Given the description of an element on the screen output the (x, y) to click on. 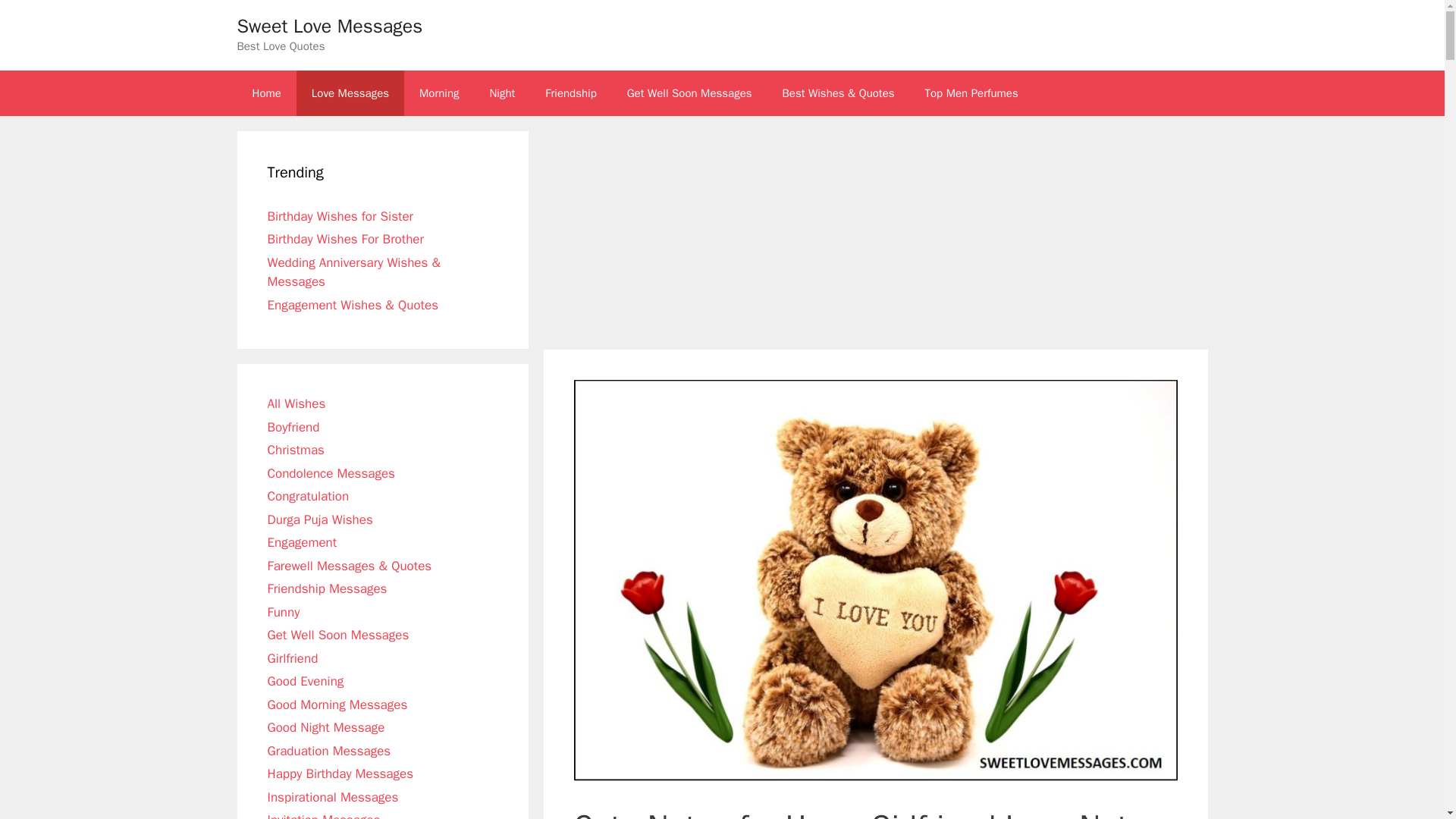
Night (501, 92)
Sweet Love Messages (328, 25)
Morning (439, 92)
Birthday Wishes for Sister (339, 215)
Friendship (570, 92)
Condolence Messages (330, 473)
Durga Puja Wishes (319, 519)
Boyfriend (292, 426)
Love Messages (350, 92)
Home (265, 92)
All Wishes (295, 403)
Christmas (294, 449)
Get Well Soon Messages (689, 92)
Birthday Wishes For Brother (344, 238)
